Given the description of an element on the screen output the (x, y) to click on. 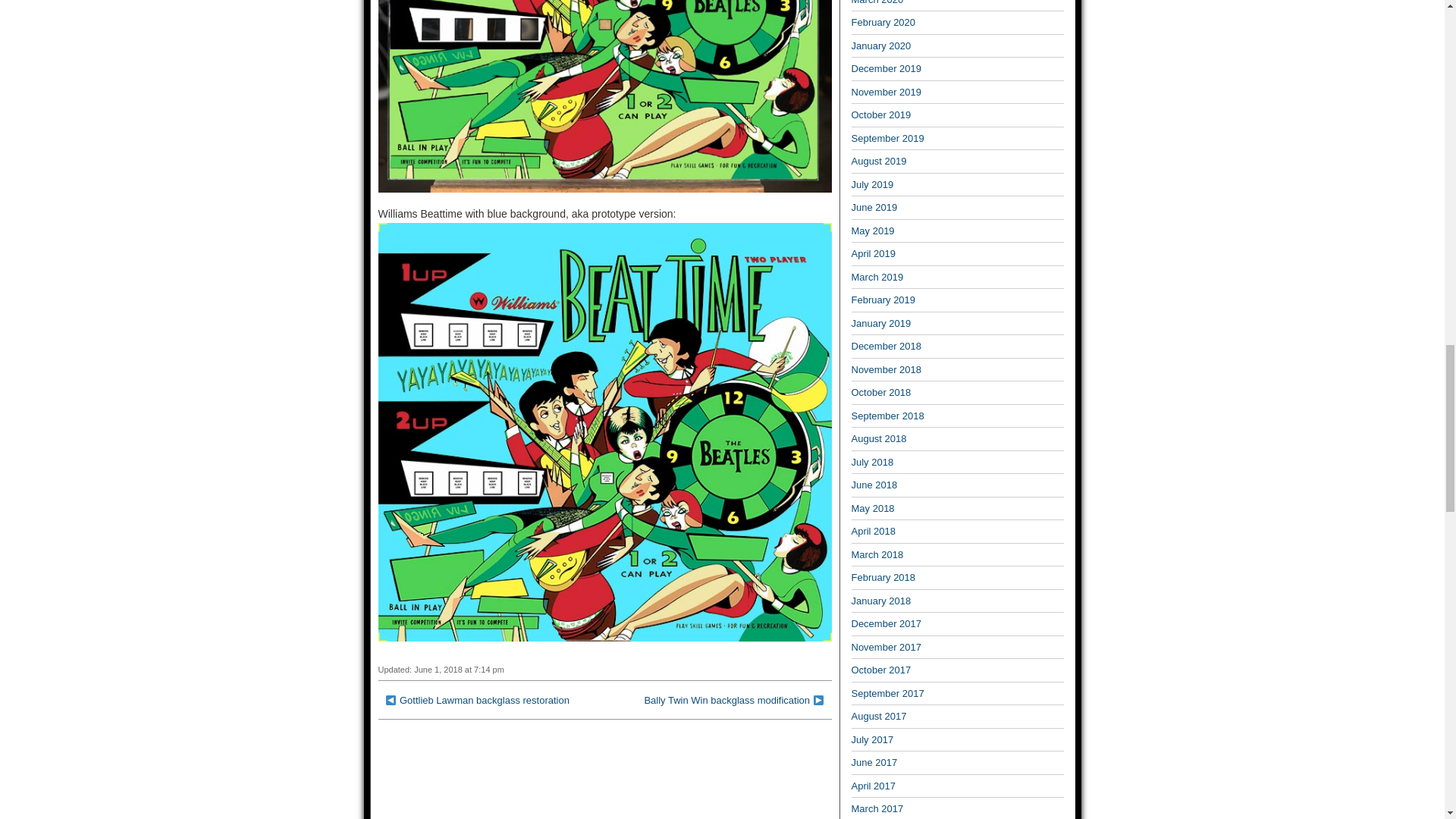
Gottlieb Lawman backglass restoration (483, 699)
Bally Twin Win backglass modification (726, 699)
